Given the description of an element on the screen output the (x, y) to click on. 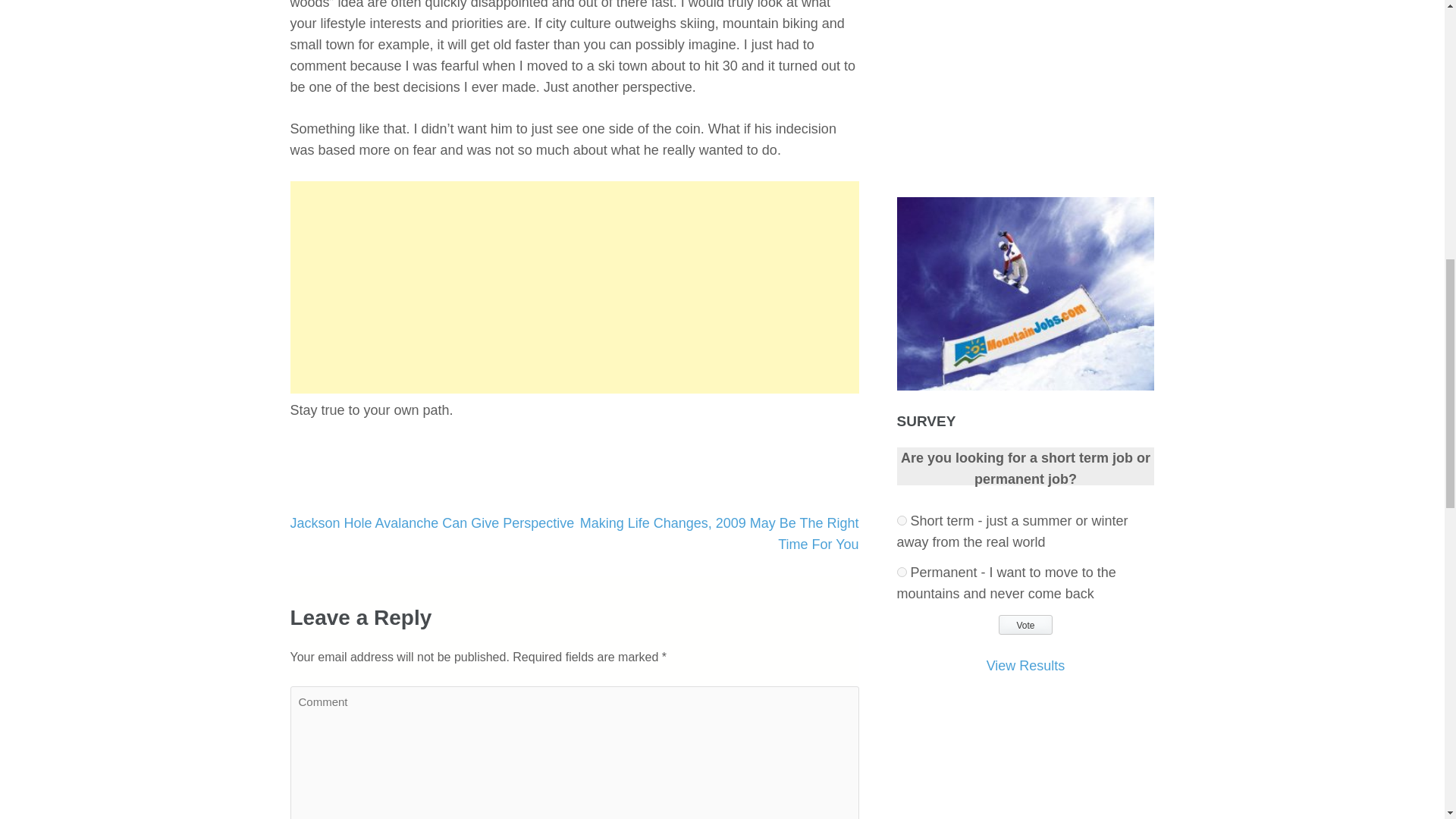
11 (901, 572)
   Vote    (1024, 624)
View Results Of This Poll (1026, 665)
10 (901, 520)
Advertisement (574, 286)
